Given the description of an element on the screen output the (x, y) to click on. 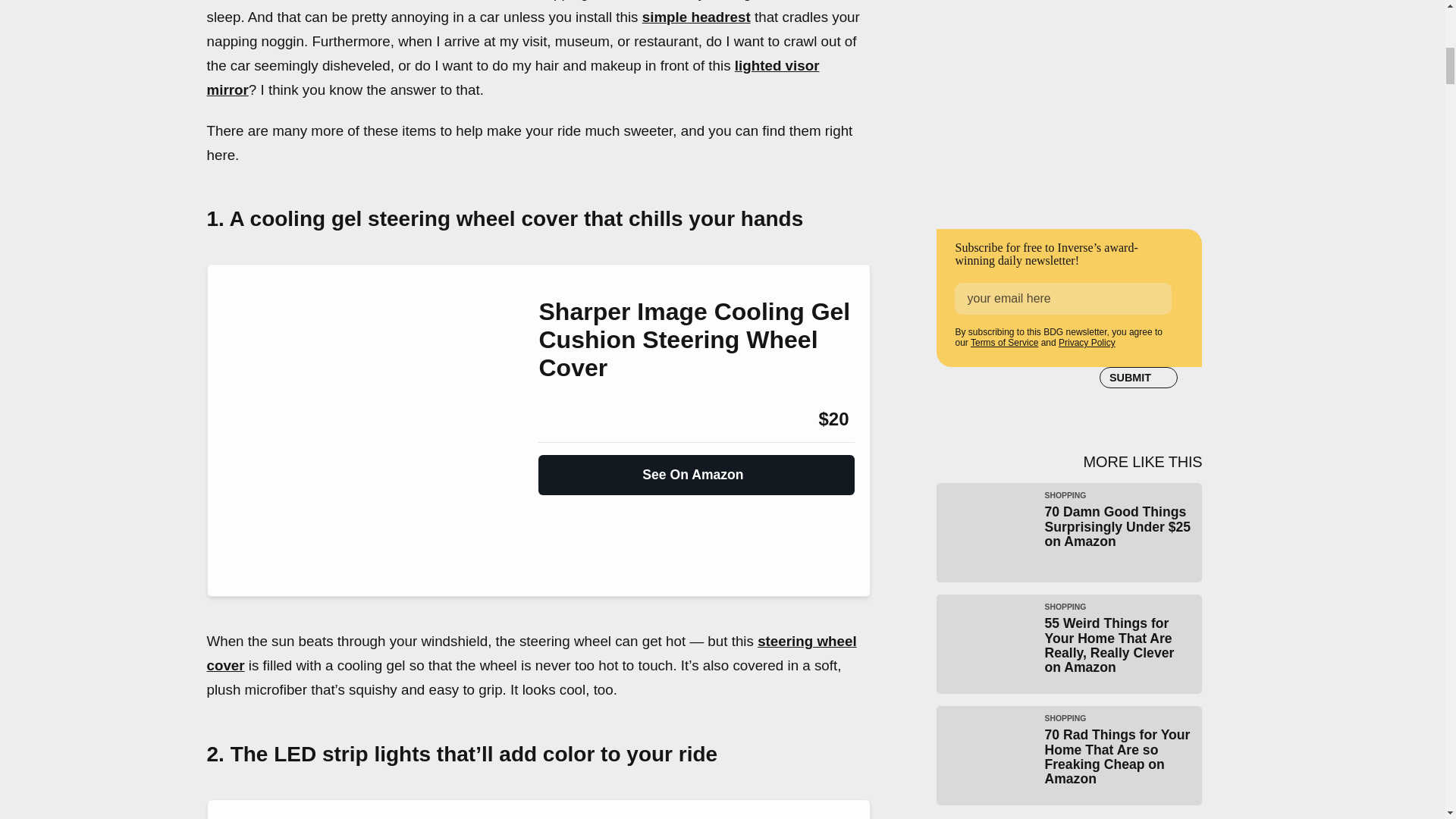
simple headrest (696, 17)
lighted visor mirror (512, 77)
steering wheel cover (531, 653)
Amazon (579, 419)
Echo Auto (262, 0)
See On Amazon (696, 468)
